Given the description of an element on the screen output the (x, y) to click on. 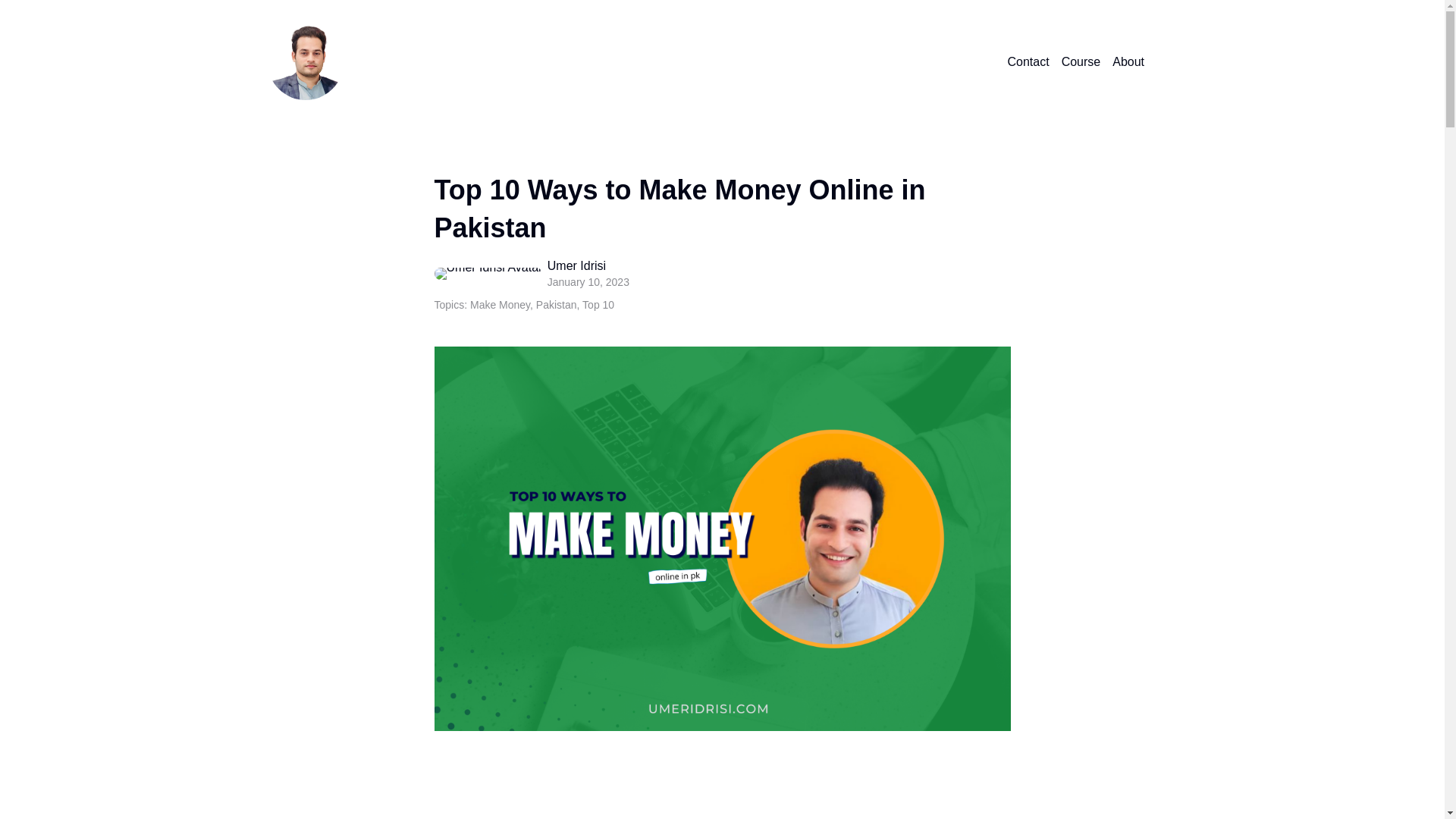
Pakistan (555, 304)
Top 10 (598, 304)
Contact (1027, 61)
Make Money (499, 304)
About (1128, 61)
Course (1080, 61)
